Given the description of an element on the screen output the (x, y) to click on. 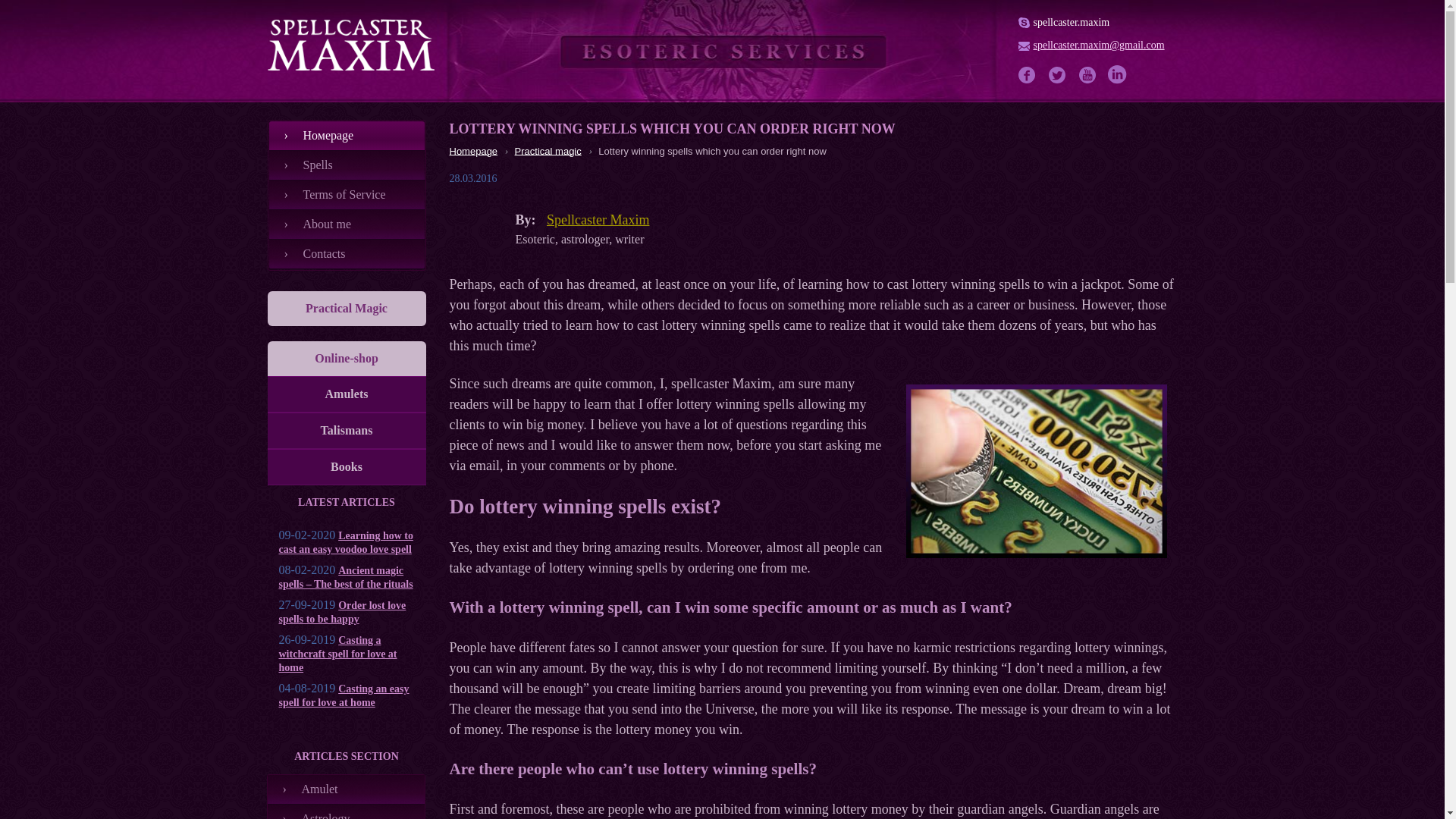
Learning how to cast an easy voodoo love spell (346, 542)
Practical magic (547, 150)
Casting a witchcraft spell for love at home (338, 653)
Books (345, 466)
Contacts (345, 254)
Online-shop (345, 358)
About me (345, 224)
Order lost love spells to be happy (342, 611)
Talismans (345, 430)
Amulet (345, 789)
